Given the description of an element on the screen output the (x, y) to click on. 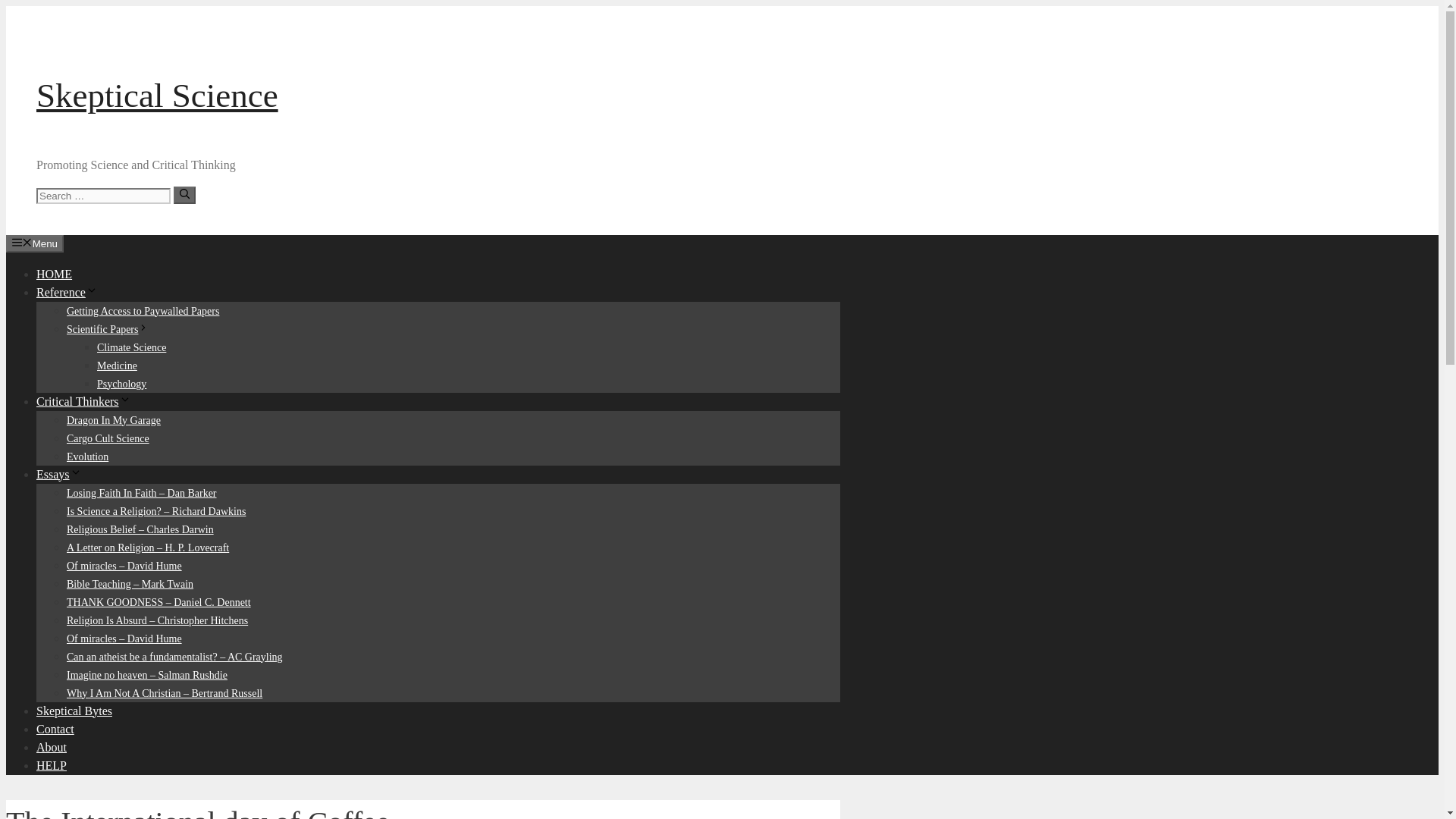
Reference (66, 291)
Critical Thinkers (83, 400)
Scientific Papers (107, 328)
Climate Science (131, 346)
Cargo Cult Science (107, 437)
HOME (53, 273)
Menu (34, 243)
Skeptical Bytes (74, 709)
Essays (58, 472)
HELP (51, 764)
